Given the description of an element on the screen output the (x, y) to click on. 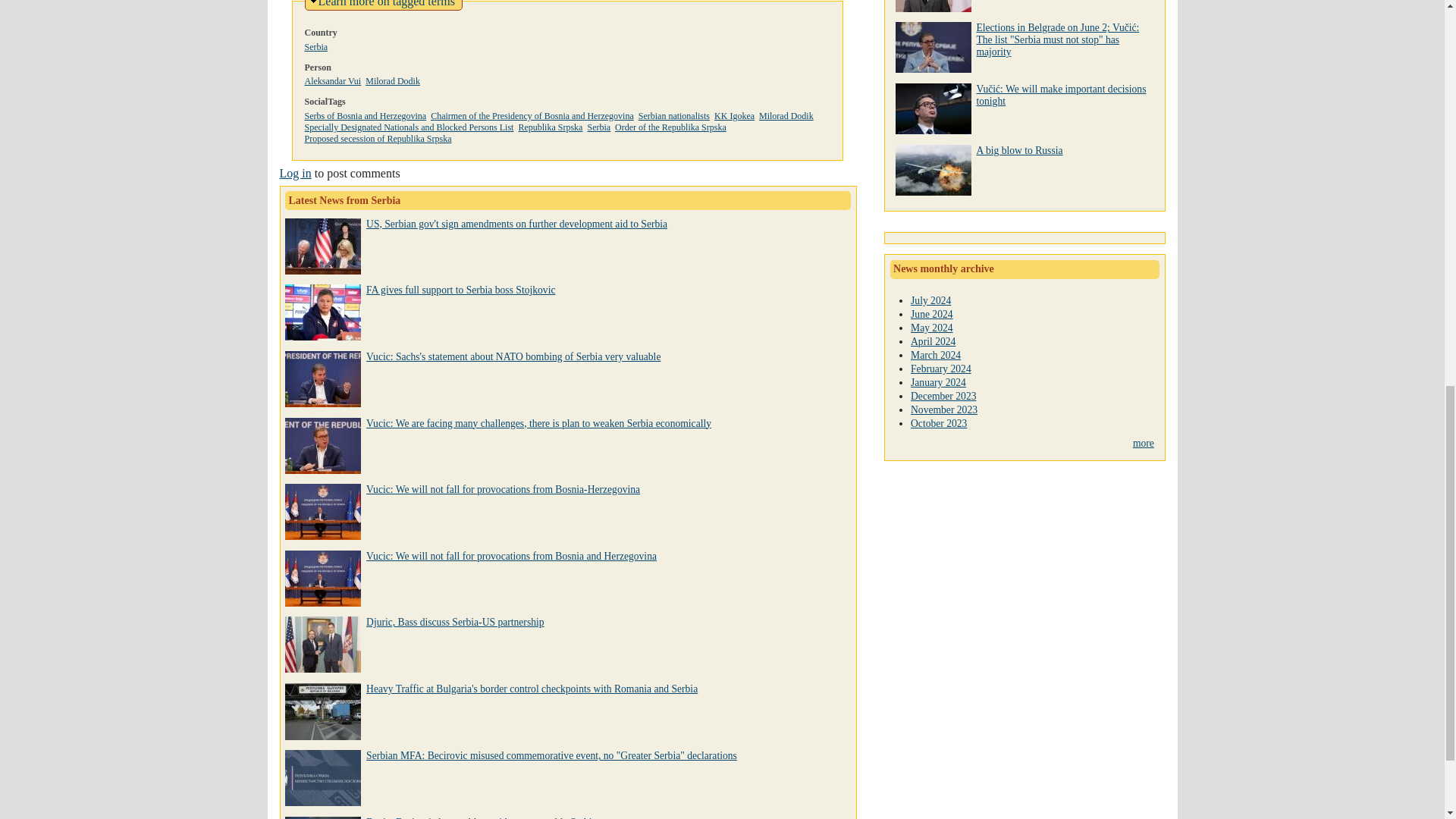
Serbia (386, 3)
Serbian nationalists (598, 127)
Milorad Dodik (674, 115)
Specially Designated Nationals and Blocked Persons List (392, 81)
Log in (408, 127)
Proposed secession of Republika Srpska (295, 173)
Aleksandar Vui (377, 138)
Serbs of Bosnia and Herzegovina (332, 81)
Republika Srpska (365, 115)
FA gives full support to Serbia boss Stojkovic (550, 127)
Chairmen of the Presidency of Bosnia and Herzegovina (460, 289)
Milorad Dodik (531, 115)
Order of the Republika Srpska (785, 115)
